Given the description of an element on the screen output the (x, y) to click on. 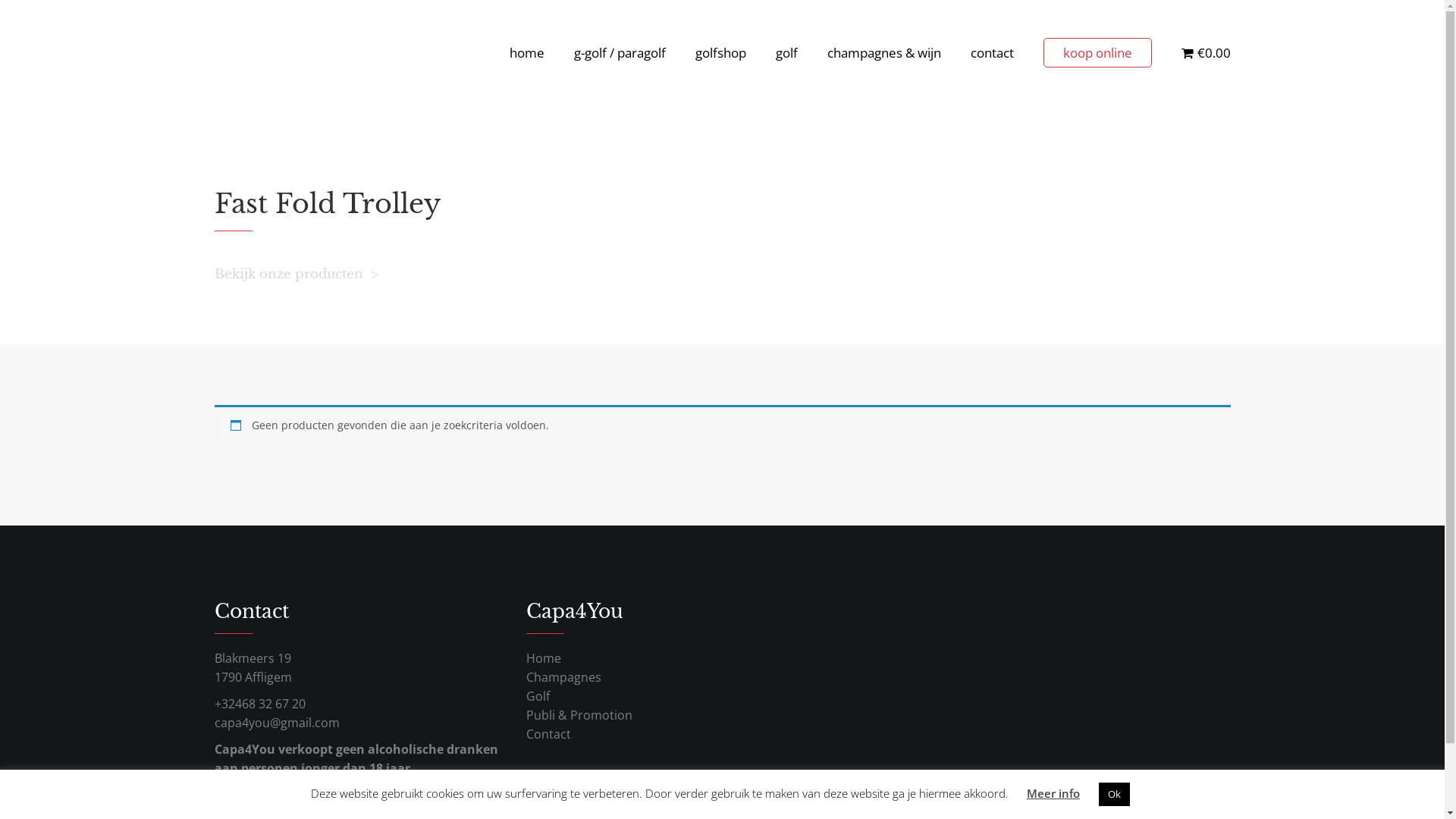
g-golf / paragolf Element type: text (619, 52)
Ok Element type: text (1113, 794)
Home Element type: text (543, 657)
Golf Element type: text (537, 695)
contact Element type: text (991, 52)
home Element type: text (526, 52)
golfshop Element type: text (720, 52)
capa4you@gmail.com Element type: text (275, 722)
Publi & Promotion Element type: text (579, 714)
Champagnes Element type: text (563, 676)
+32468 32 67 20 Element type: text (258, 703)
golf Element type: text (786, 52)
Meer info Element type: text (1052, 793)
champagnes & wijn Element type: text (884, 52)
Contact Element type: text (548, 733)
koop online Element type: text (1097, 52)
Bekijk onze producten Element type: text (295, 274)
